Given the description of an element on the screen output the (x, y) to click on. 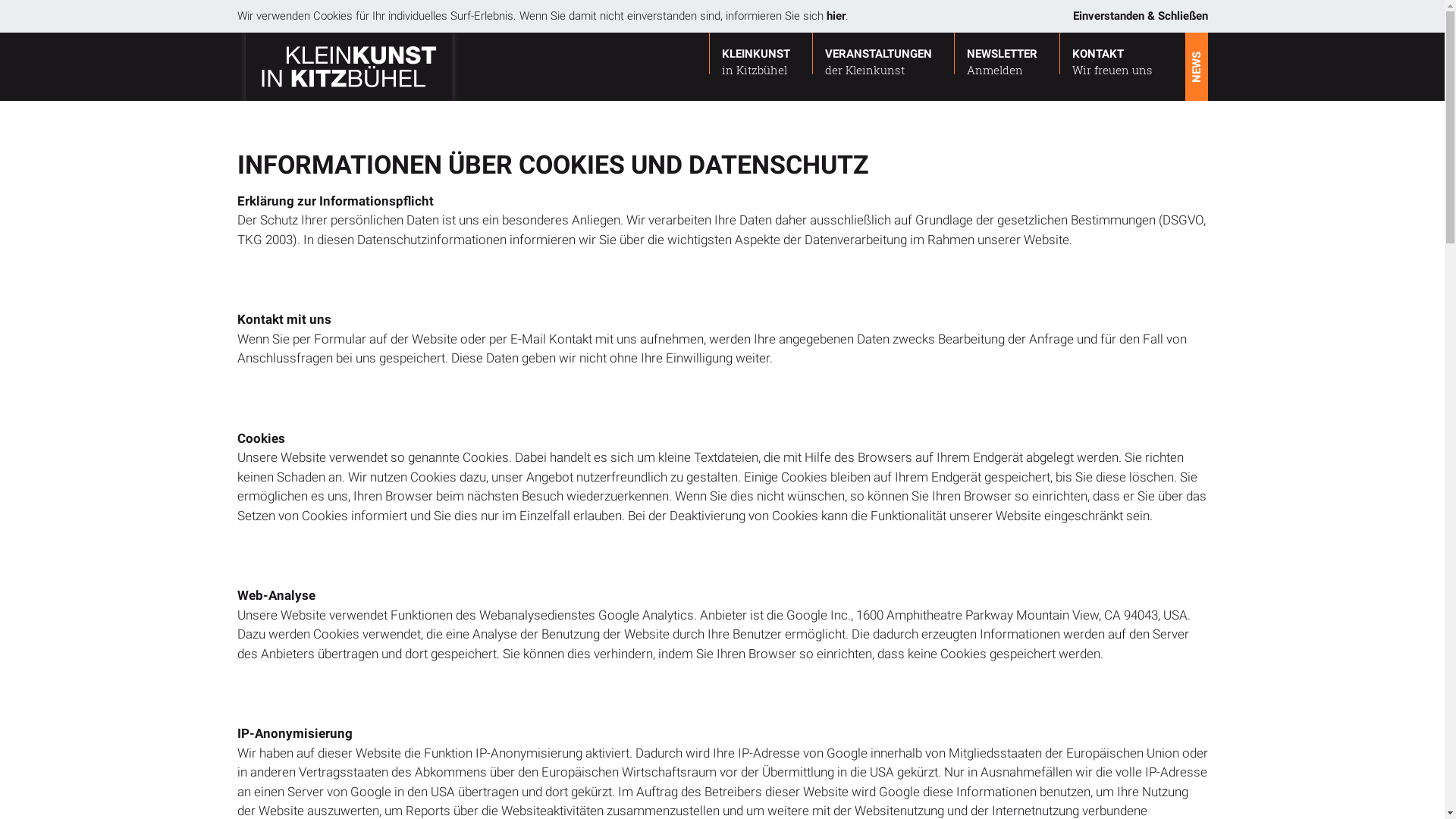
NEWSLETTER
Anmelden Element type: text (1001, 54)
KONTAKT
Wir freuen uns Element type: text (1111, 54)
hier Element type: text (835, 15)
VERANSTALTUNGEN
der Kleinkunst Element type: text (877, 54)
NEWS Element type: text (1218, 42)
